Given the description of an element on the screen output the (x, y) to click on. 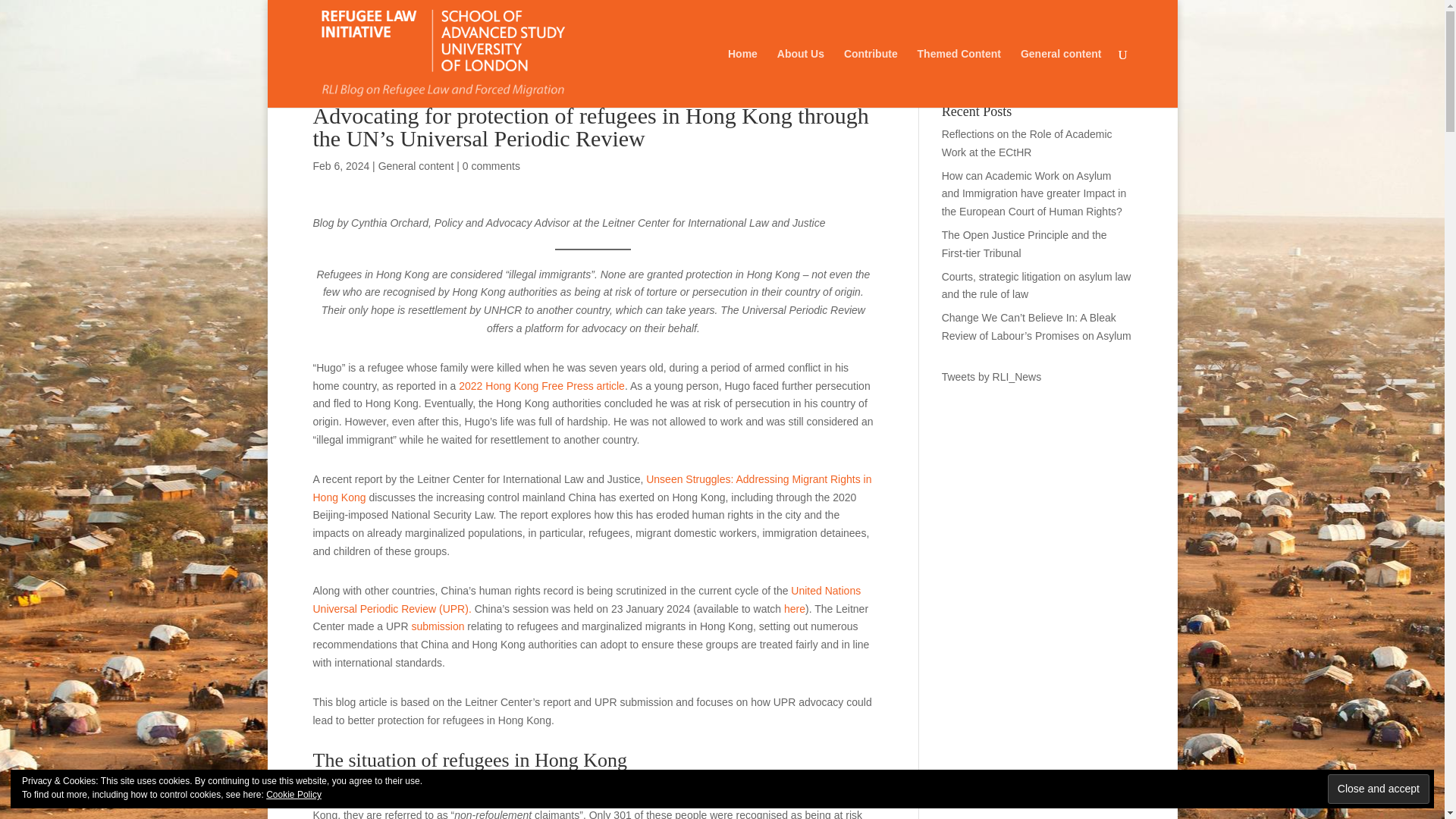
Close and accept (1378, 788)
Unseen Struggles: Addressing Migrant Rights in Hong Kong (591, 488)
Contribute (871, 77)
0 comments (491, 165)
2022 Hong Kong Free Press article (541, 386)
submission (437, 625)
General content (1061, 77)
General content (416, 165)
here (794, 608)
Themed Content (959, 77)
